Given the description of an element on the screen output the (x, y) to click on. 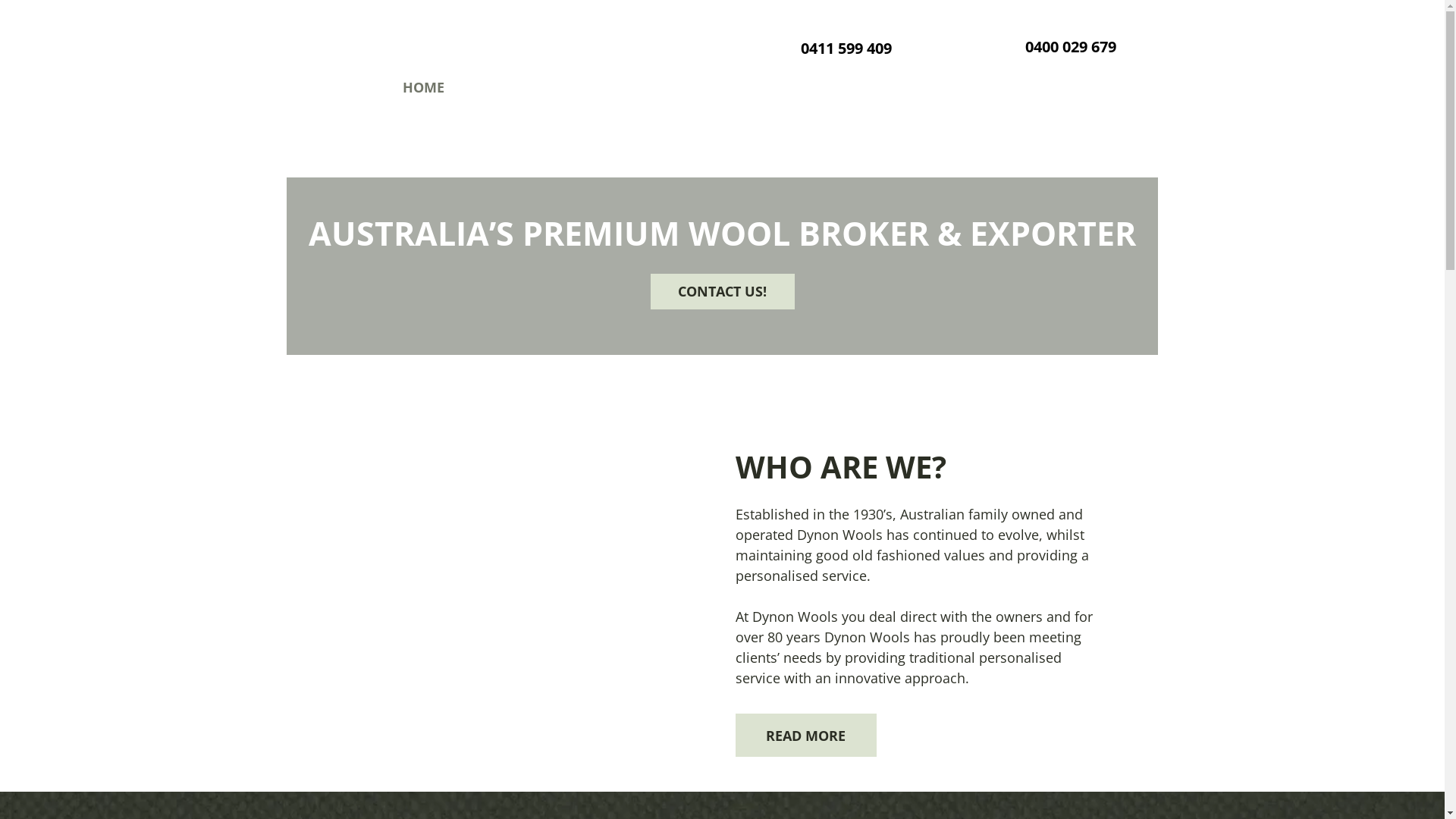
CONTACT US! Element type: text (722, 291)
ABOUT US Element type: text (510, 87)
READ MORE Element type: text (805, 734)
BROKERING Element type: text (617, 87)
0411 599 409 Element type: text (845, 48)
0400 029 679 Element type: text (1070, 46)
SHEARING SPECIFICATIONS Element type: text (859, 87)
CONTACT Element type: text (1011, 87)
EXPORT Element type: text (715, 87)
HOME Element type: text (422, 87)
